Given the description of an element on the screen output the (x, y) to click on. 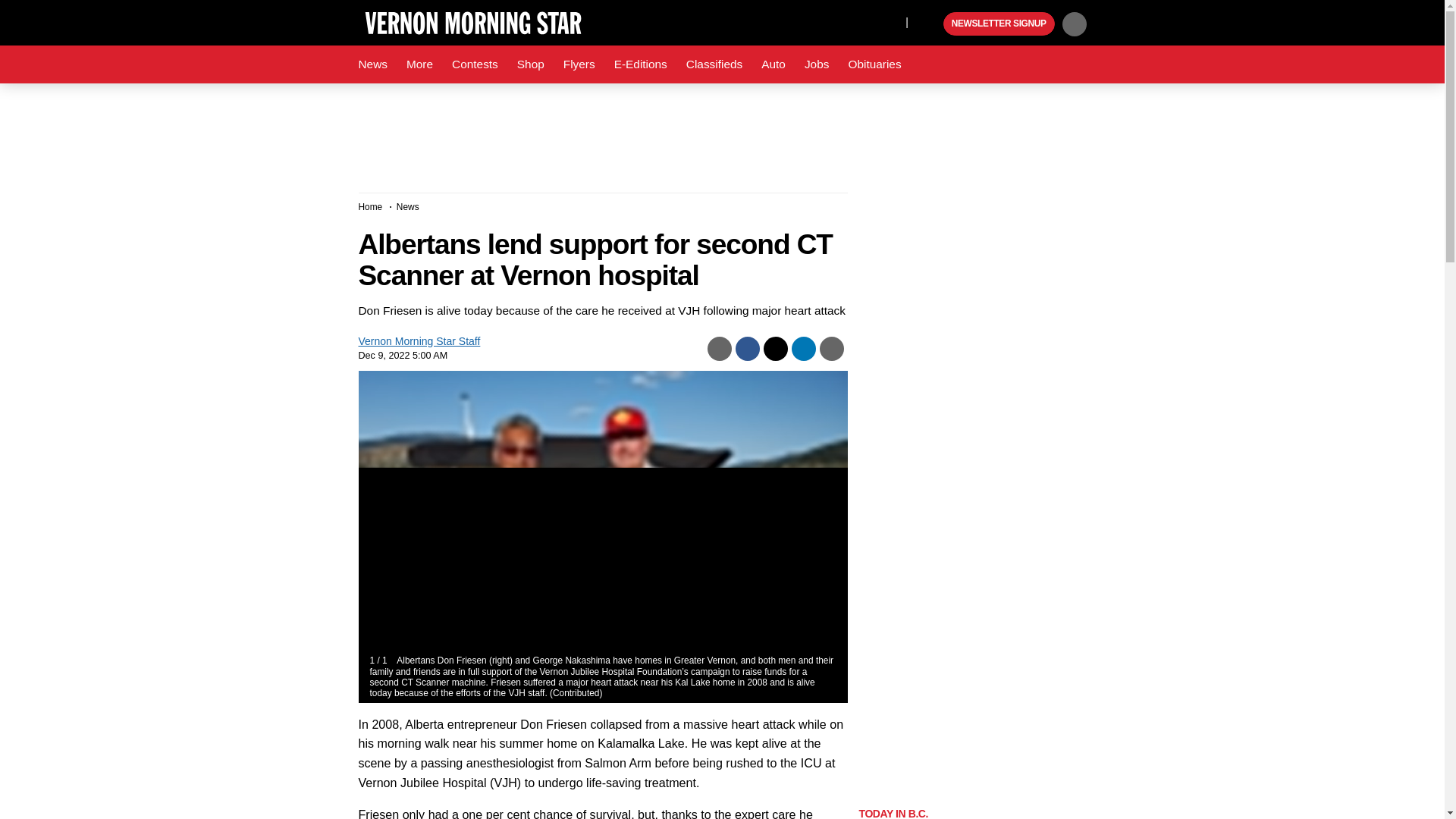
News (372, 64)
X (889, 21)
NEWSLETTER SIGNUP (998, 24)
Play (929, 24)
Black Press Media (929, 24)
